Given the description of an element on the screen output the (x, y) to click on. 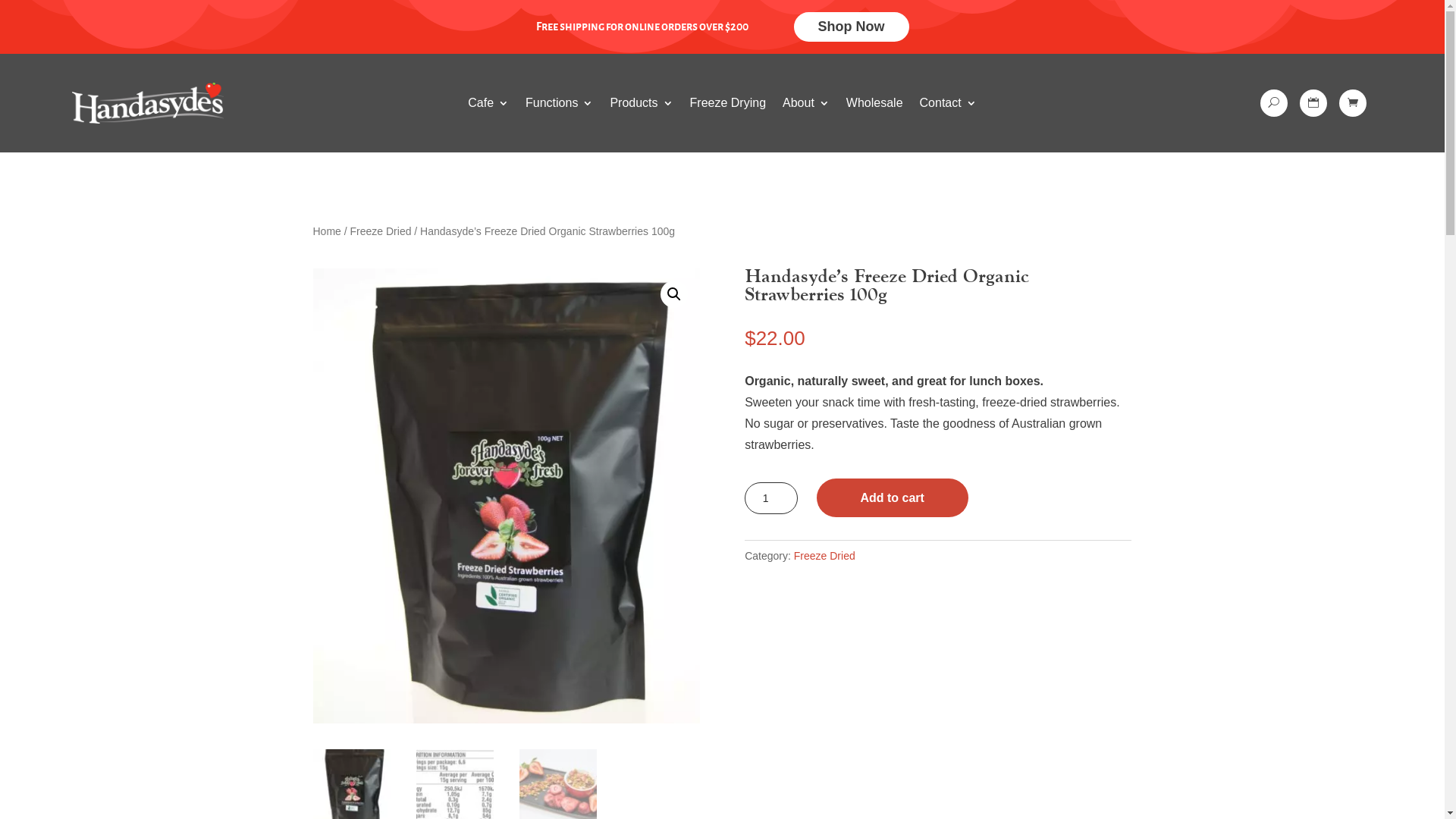
Handasydes_White_Text Element type: hover (147, 102)
Contact Element type: text (947, 106)
Freeze Dried Element type: text (380, 231)
About Element type: text (805, 106)
Cafe Element type: text (487, 106)
Wholesale Element type: text (874, 106)
Home Element type: text (326, 231)
Products Element type: text (640, 106)
Add to cart Element type: text (892, 497)
Freeze-Dried-Strawberries-Organic-100g-1080x1270 Element type: hover (505, 495)
Freeze Drying Element type: text (727, 106)
Functions Element type: text (559, 106)
Skip to content Element type: text (0, 0)
Freeze Dried Element type: text (824, 555)
Shop Now Element type: text (850, 26)
